Given the description of an element on the screen output the (x, y) to click on. 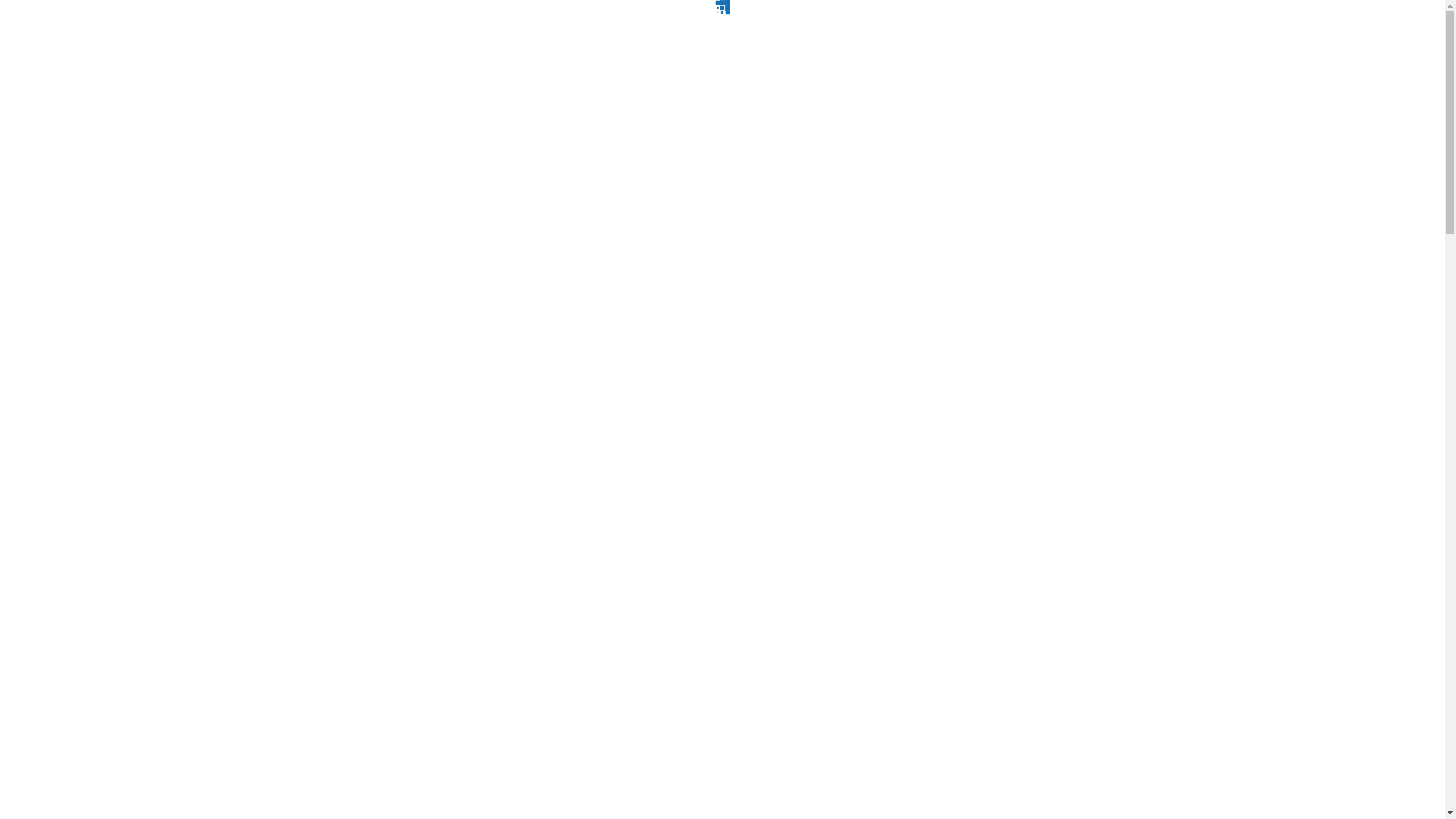
Back to Top Element type: hover (7, 15)
politique Element type: text (661, 782)
Fermer Element type: text (1072, 773)
En savoir plus Element type: text (1196, 773)
+32 (0)71 77 11 07 Element type: text (307, 576)
Accueil Element type: text (55, 736)
